Given the description of an element on the screen output the (x, y) to click on. 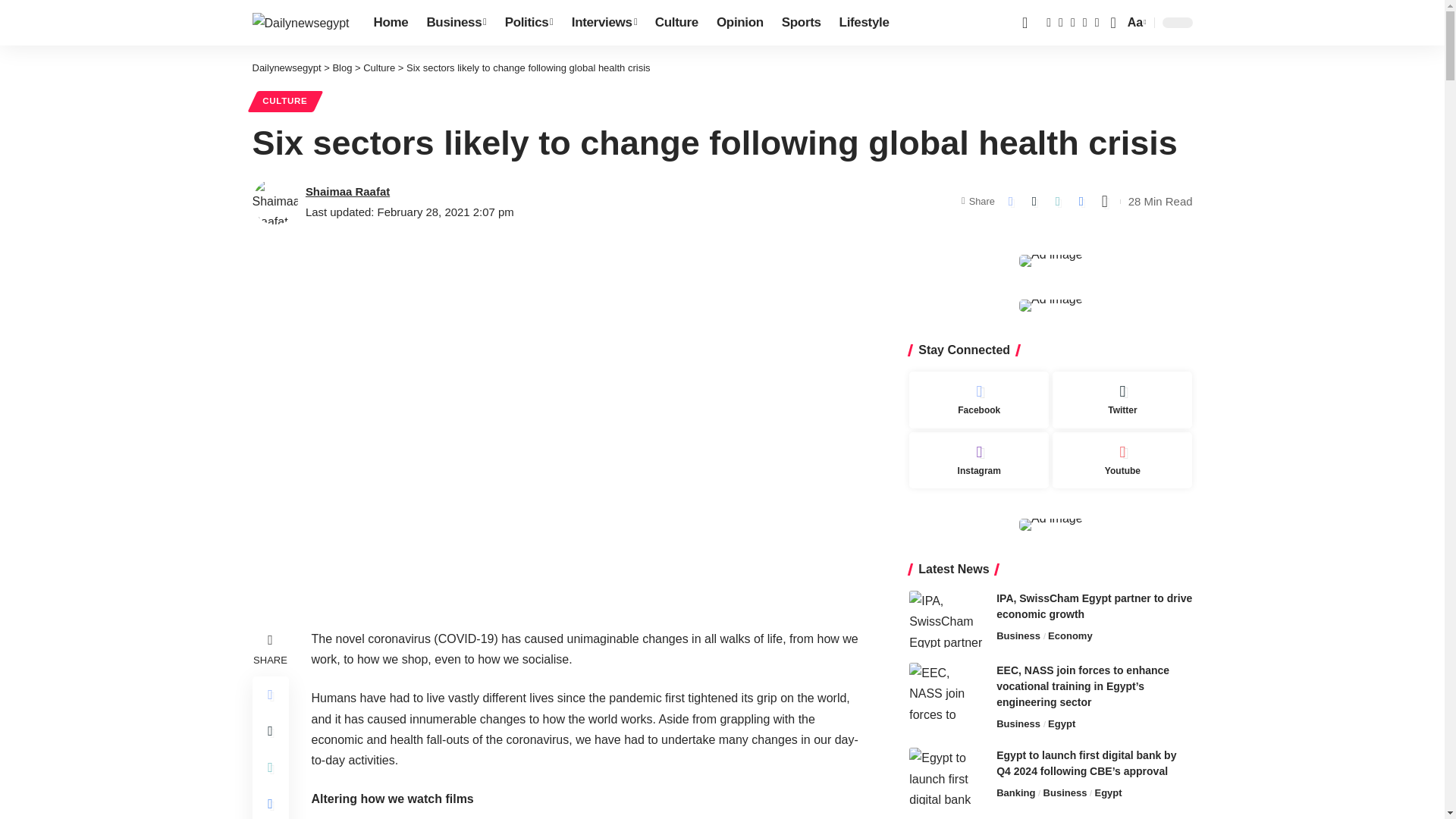
Dailynewsegypt (300, 22)
Home (391, 22)
Politics (529, 22)
Opinion (740, 22)
Business (455, 22)
Culture (676, 22)
Interviews (604, 22)
